Given the description of an element on the screen output the (x, y) to click on. 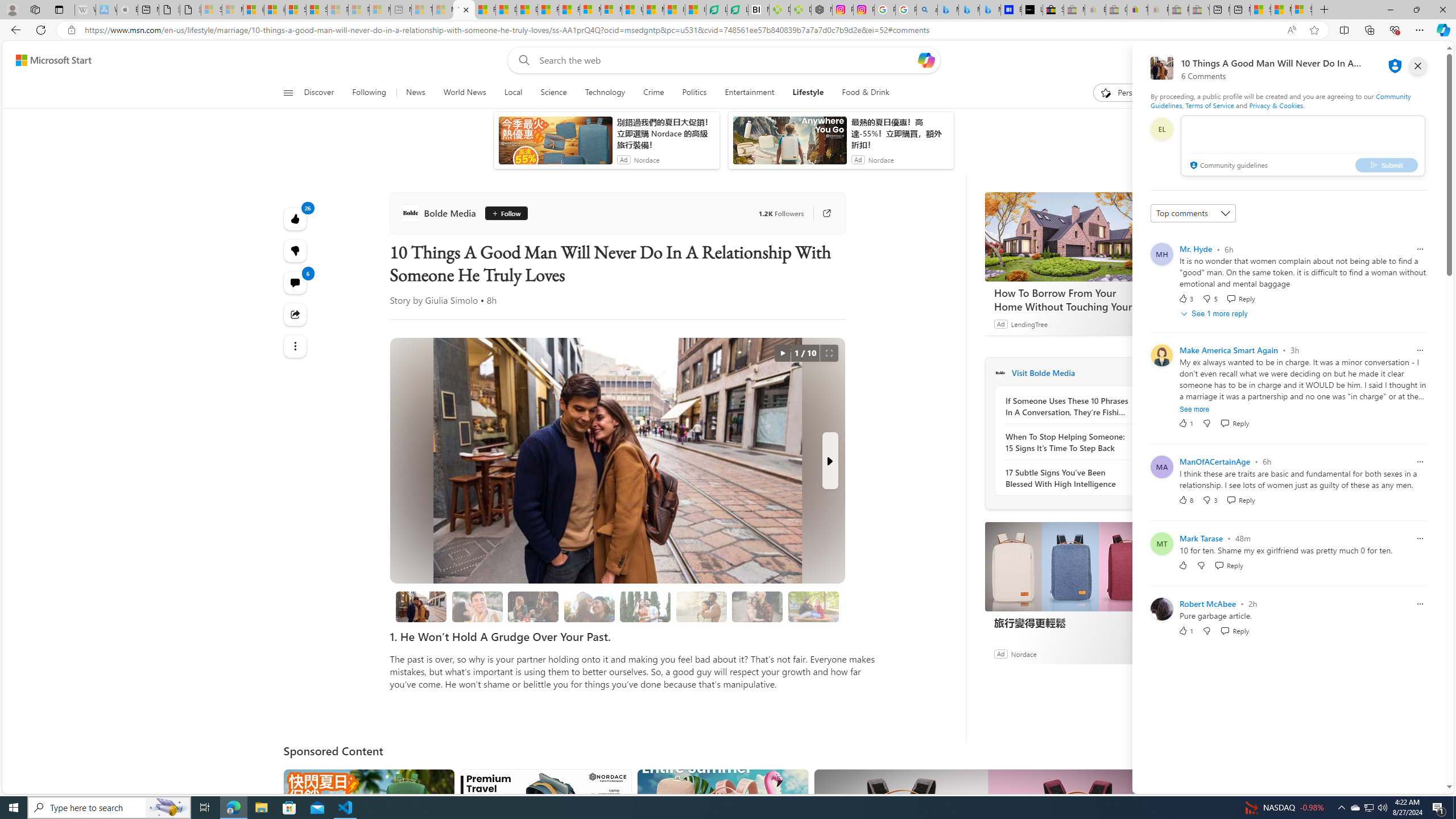
See more (1194, 409)
Foo BAR | Trusted Community Engagement and Contributions (569, 9)
Microsoft rewards (1374, 60)
Local (513, 92)
Microsoft account | Account Checkup - Sleeping (379, 9)
Microsoft Bing Travel - Shangri-La Hotel Bangkok (990, 9)
Privacy & Cookies (1276, 104)
Technology (605, 92)
Open navigation menu (287, 92)
US Heat Deaths Soared To Record High Last Year (632, 9)
Nordace - Nordace Edin Collection (821, 9)
